Given the description of an element on the screen output the (x, y) to click on. 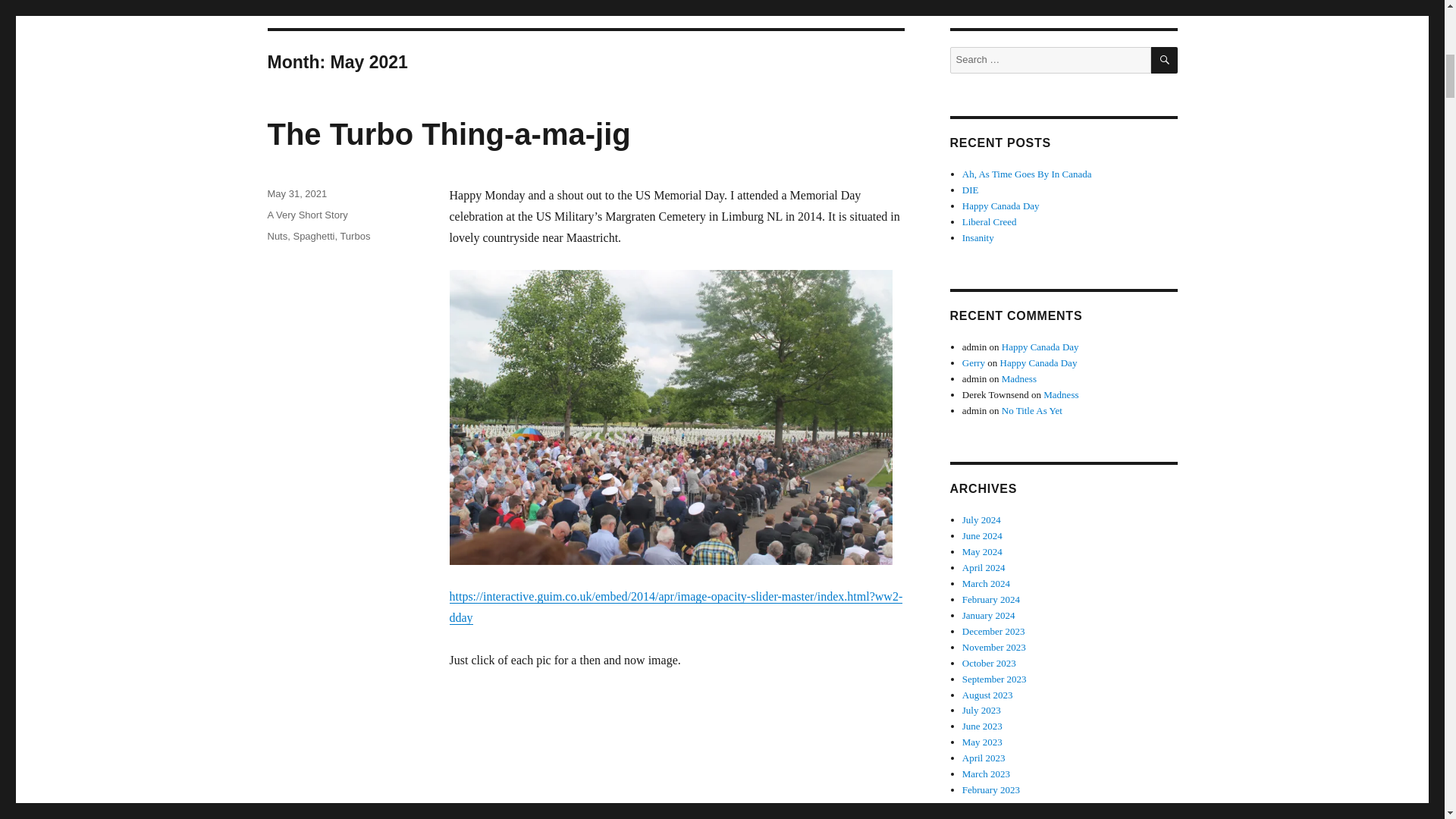
A Very Short Story (306, 214)
May 31, 2021 (296, 193)
Nuts (276, 235)
The Turbo Thing-a-ma-jig (448, 133)
Turbos (354, 235)
Spaghetti (313, 235)
